Given the description of an element on the screen output the (x, y) to click on. 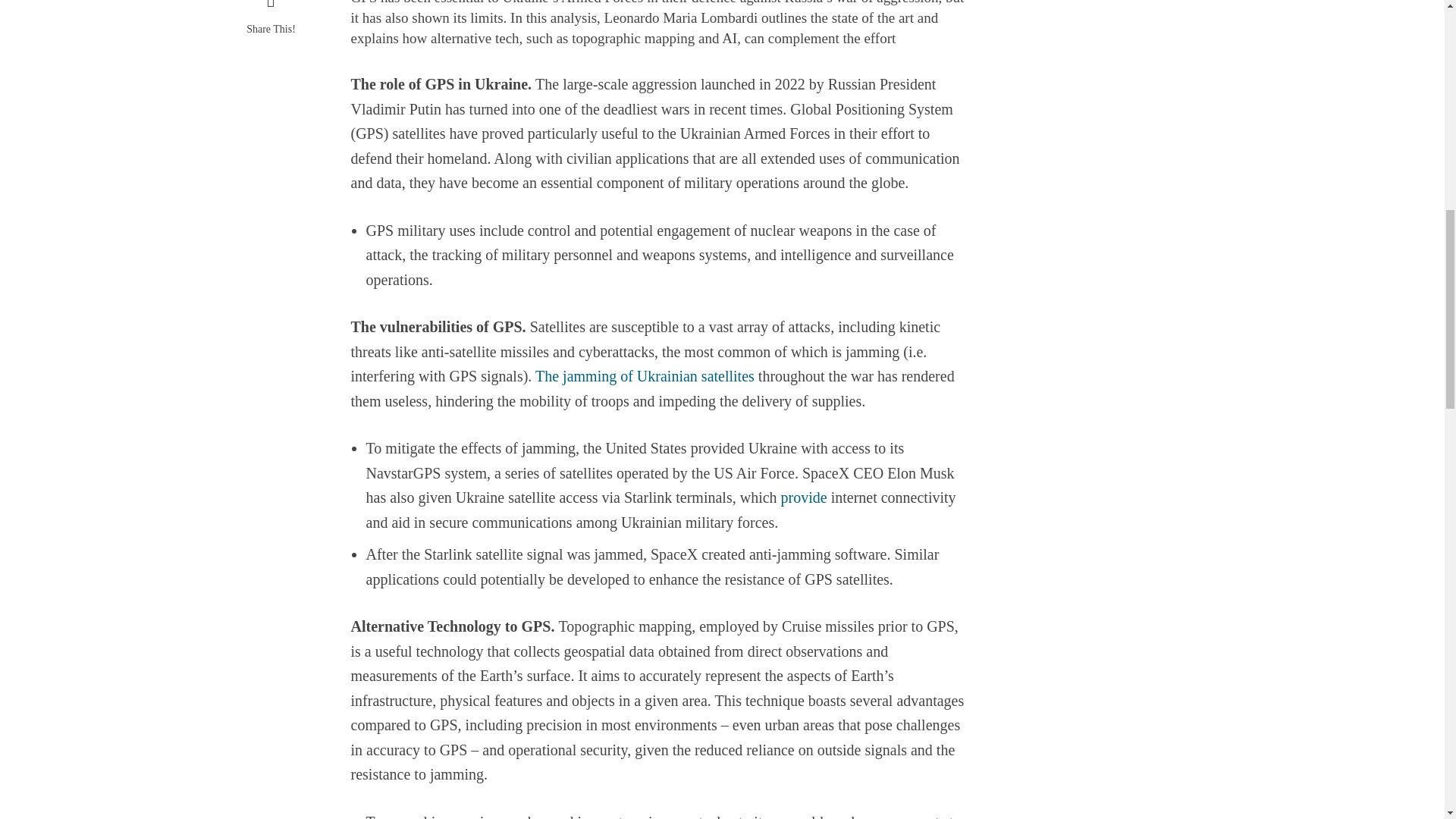
The jamming of Ukrainian satellites (644, 377)
 provide (802, 498)
